Given the description of an element on the screen output the (x, y) to click on. 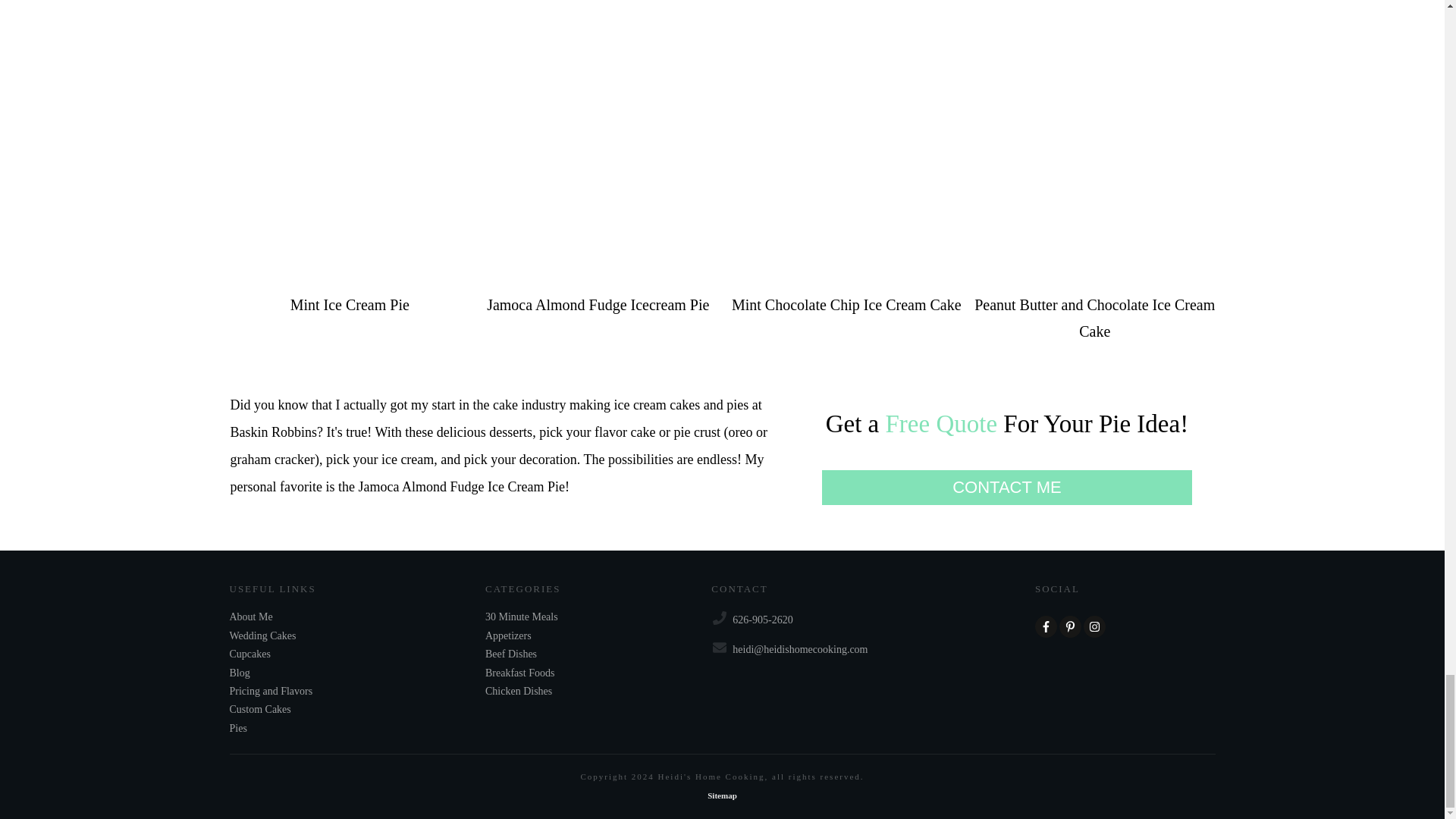
Pies (237, 728)
Chicken Dishes (517, 691)
CONTACT ME (1007, 487)
Cupcakes (248, 654)
Pricing and Flavors (270, 691)
Beef Dishes (510, 654)
Breakfast Foods (519, 673)
30 Minute Meals (520, 617)
CONTACT ME (1007, 487)
Wedding Cakes (261, 636)
